Given the description of an element on the screen output the (x, y) to click on. 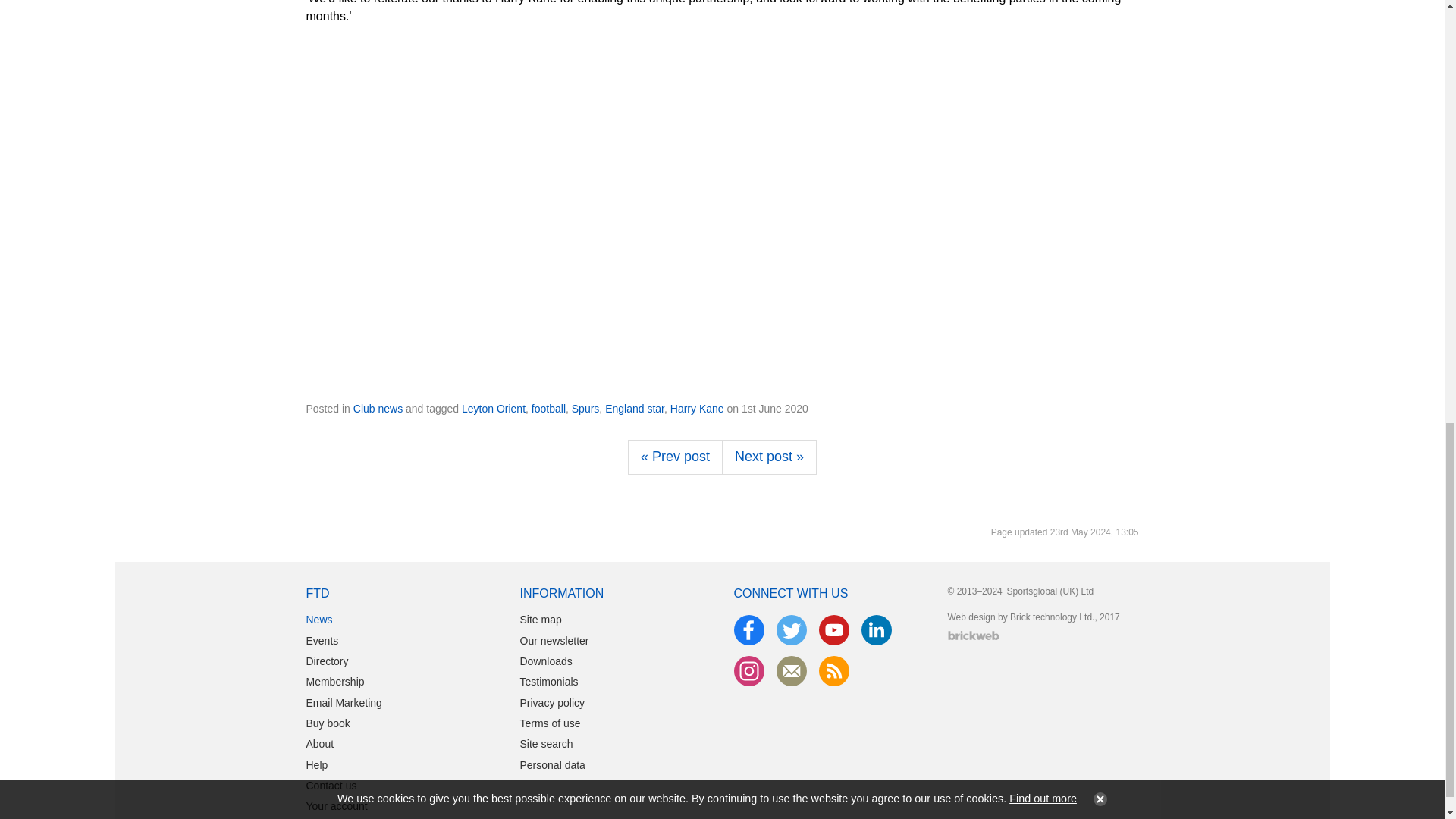
RSS (834, 671)
Instagram (749, 671)
Newsletter (791, 671)
Facebook (749, 630)
Website designed and maintained by Brick technology Ltd. (972, 634)
Twitter (791, 630)
YouTube (834, 630)
LinkedIn (877, 630)
